Given the description of an element on the screen output the (x, y) to click on. 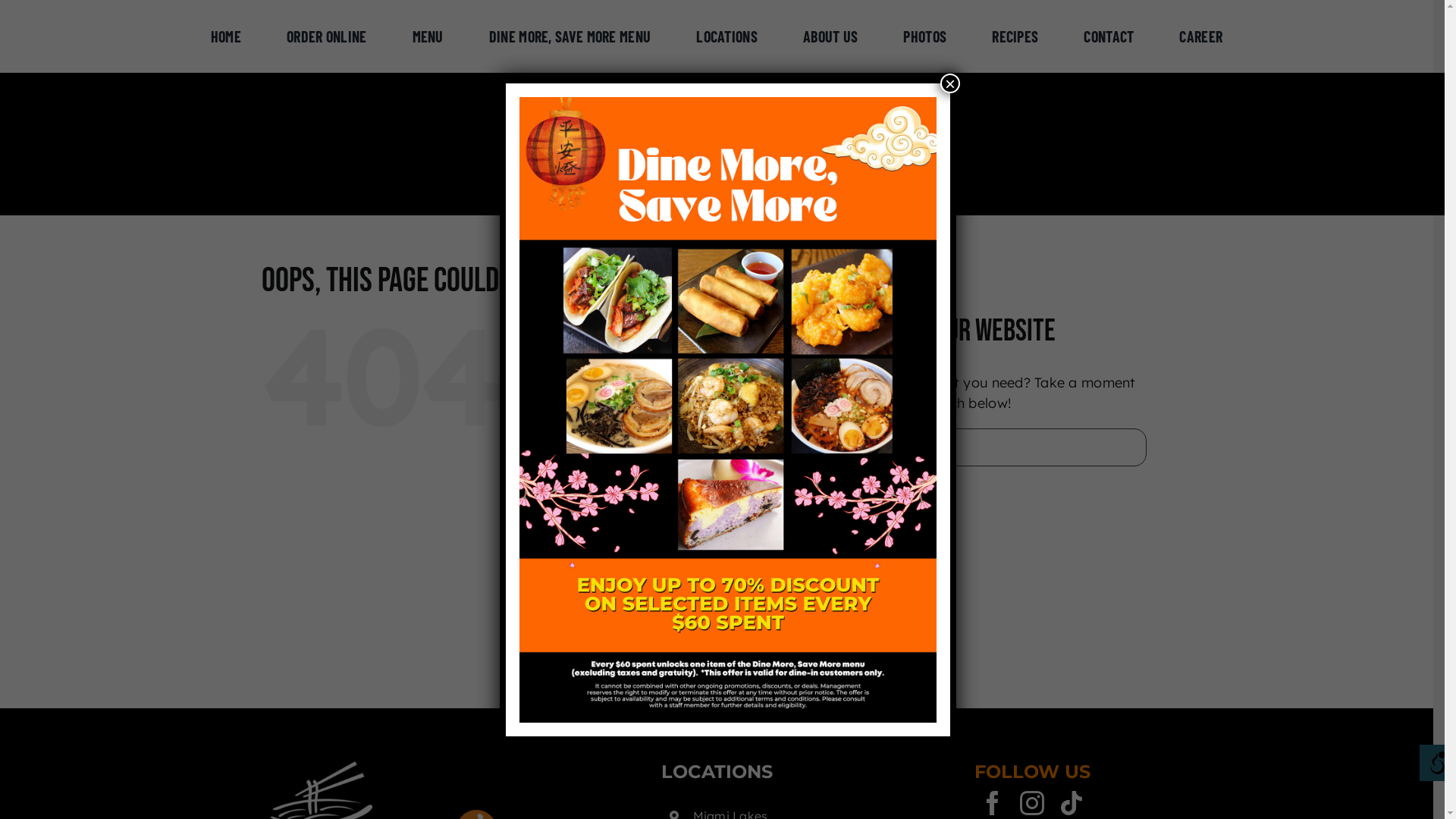
Home Element type: text (654, 385)
CAREER Element type: text (1200, 36)
DINE MORE, SAVE MORE MENU Element type: text (570, 36)
PHOTOS Element type: text (924, 36)
ORDER ONLINE Element type: text (326, 36)
LOCATIONS Element type: text (726, 36)
Dine More, Save More Menu Element type: text (719, 472)
Menu Element type: text (652, 443)
Contact Element type: text (660, 618)
RECIPES Element type: text (1014, 36)
Order Online Element type: text (674, 415)
About Us Element type: text (664, 531)
MENU Element type: text (427, 36)
Locations Element type: text (665, 502)
Recipes Element type: text (660, 589)
ABOUT US Element type: text (830, 36)
Career Element type: text (657, 647)
CONTACT Element type: text (1108, 36)
Photos Element type: text (657, 559)
HOME Element type: text (225, 36)
